Given the description of an element on the screen output the (x, y) to click on. 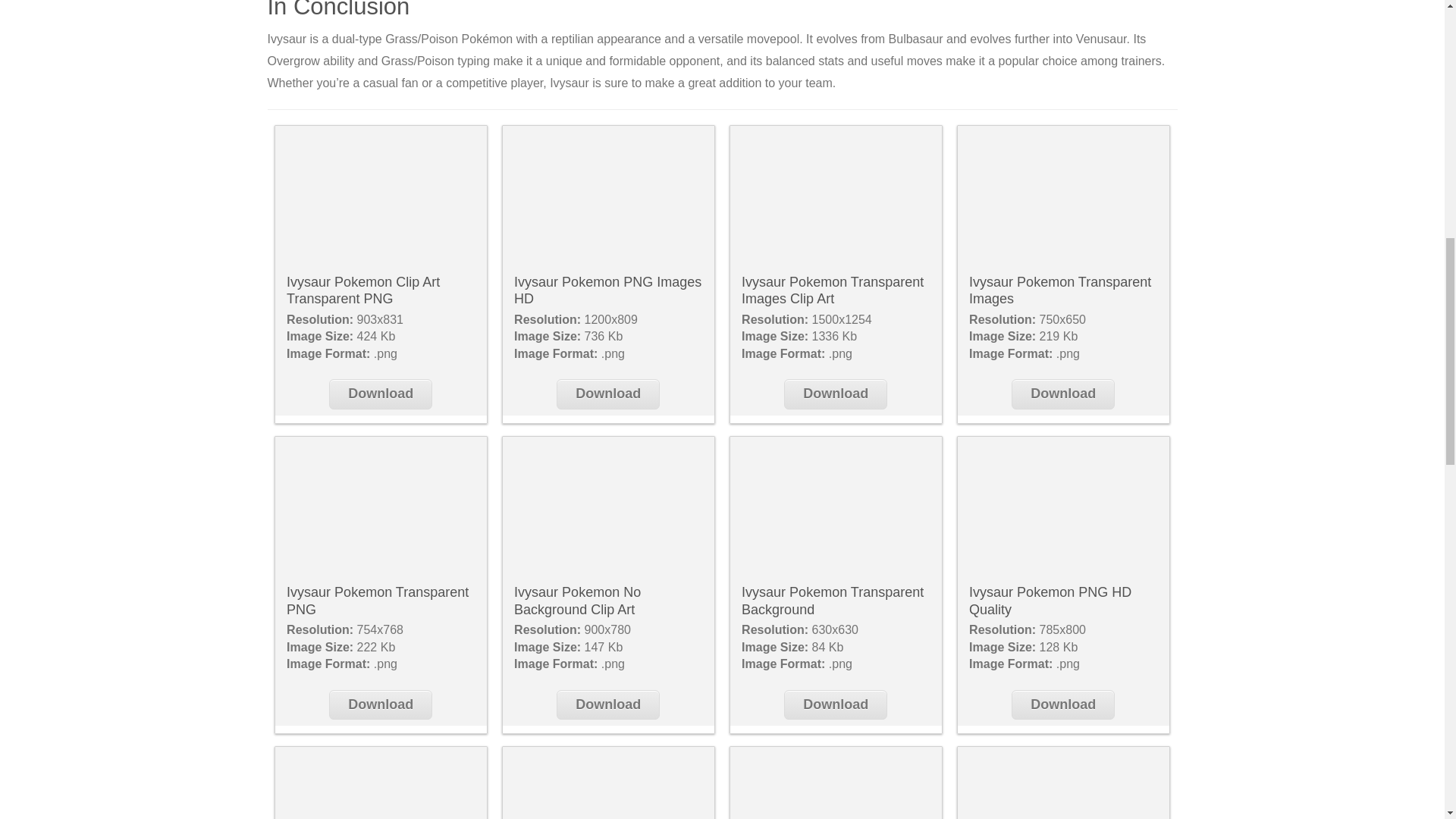
Ivysaur Pokemon PNG Images HD (607, 196)
Ivysaur Pokemon Transparent Background (835, 506)
Download (607, 704)
Ivysaur Pokemon Clip Art Transparent PNG (362, 290)
Ivysaur Pokemon Transparent Clip Art Image (607, 782)
Ivysaur Pokemon No Background Clip Art (607, 506)
Ivysaur Pokemon Transparent PNG (380, 506)
Ivysaur Pokemon Transparent Images Clip Art (835, 196)
Download (380, 393)
Ivysaur Pokemon Transparent PNG (377, 600)
